Given the description of an element on the screen output the (x, y) to click on. 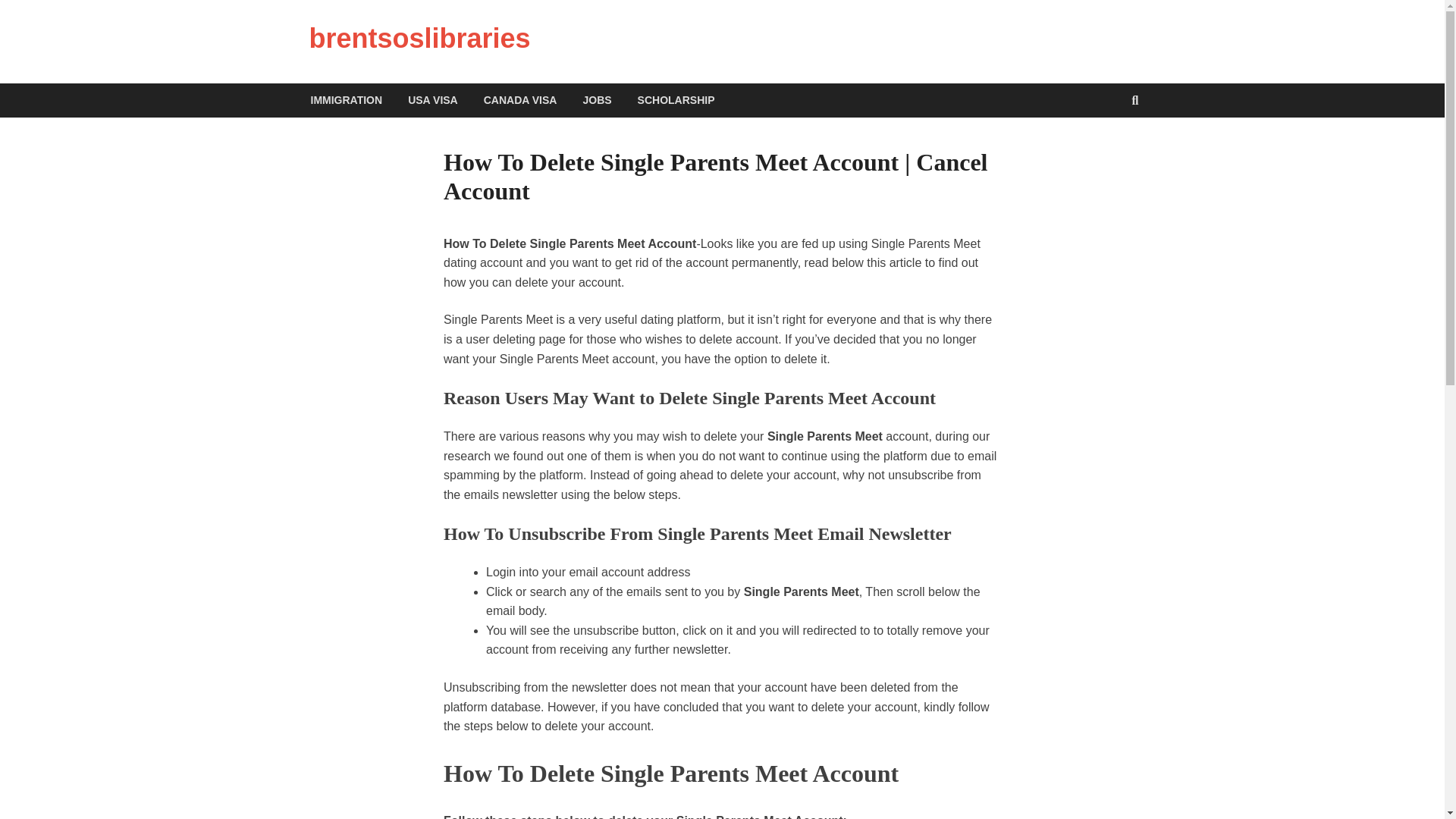
brentsoslibraries (419, 38)
USA VISA (432, 100)
JOBS (596, 100)
SCHOLARSHIP (676, 100)
CANADA VISA (520, 100)
IMMIGRATION (345, 100)
